Given the description of an element on the screen output the (x, y) to click on. 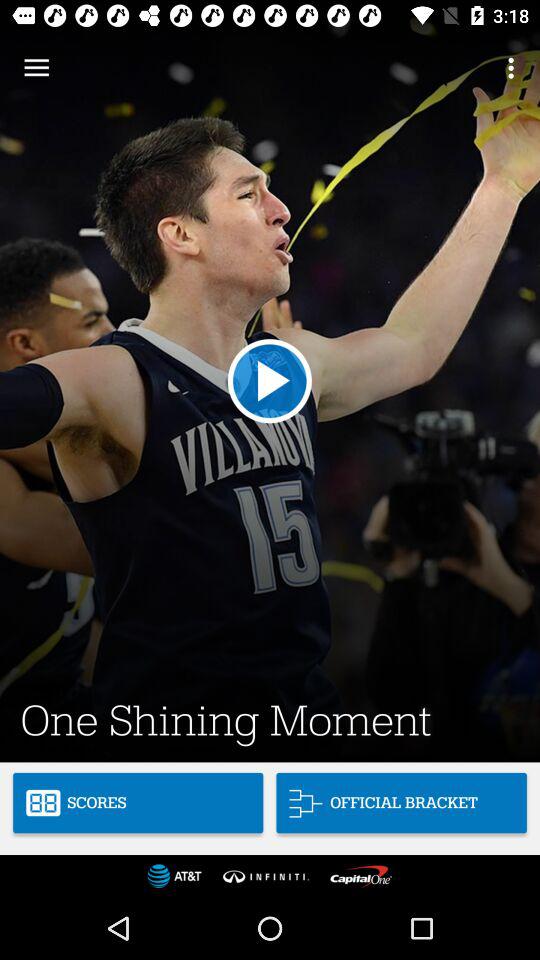
turn off item next to official bracket icon (138, 802)
